Given the description of an element on the screen output the (x, y) to click on. 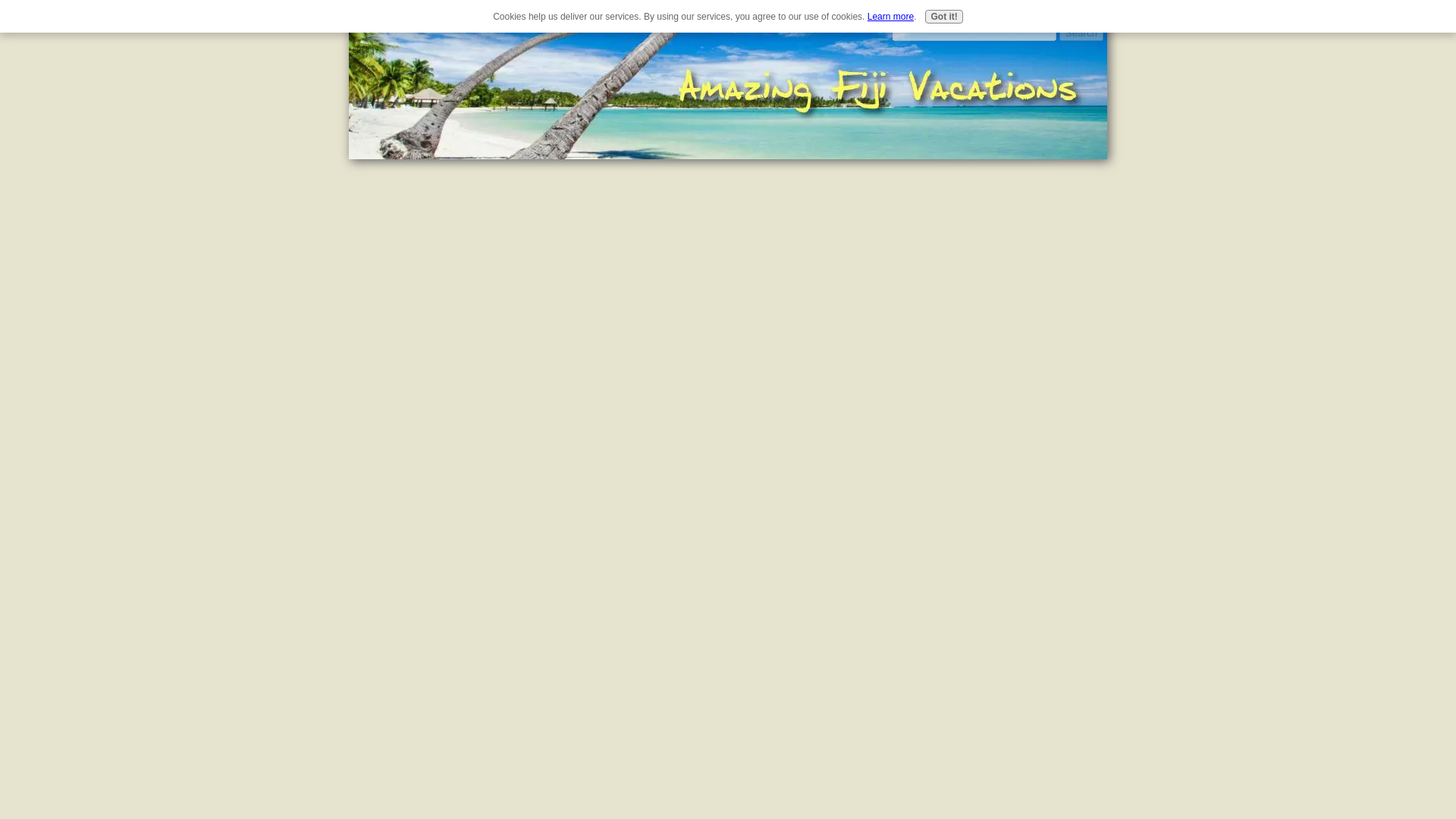
Search (1081, 32)
Search (1081, 32)
Got it! (943, 16)
Learn more (890, 16)
